Given the description of an element on the screen output the (x, y) to click on. 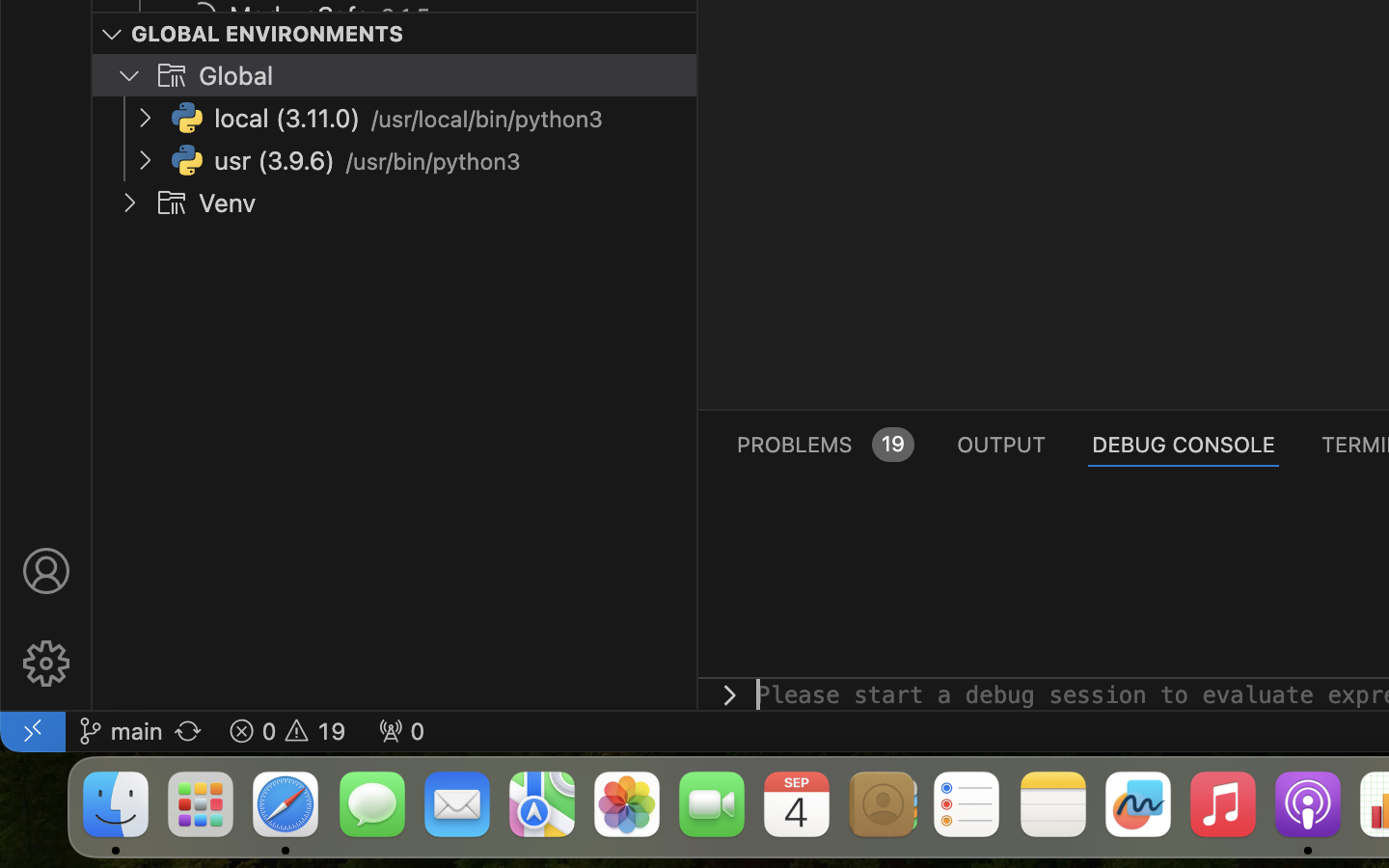
 Element type: AXStaticText (728, 694)
/usr/local/bin/python3 Element type: AXStaticText (487, 119)
GLOBAL ENVIRONMENTS Element type: AXStaticText (268, 33)
